Given the description of an element on the screen output the (x, y) to click on. 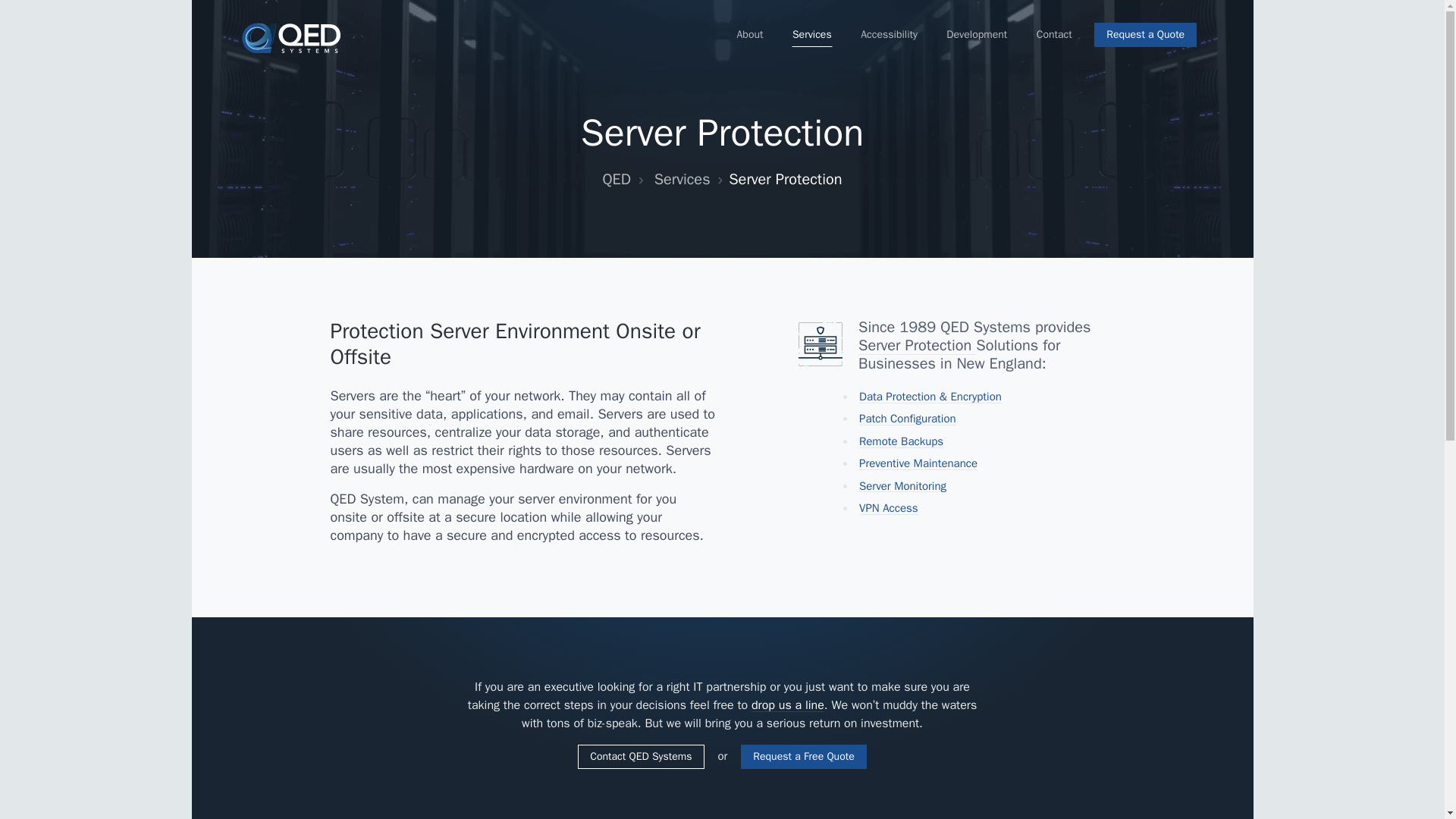
drop us a line (787, 704)
Request a Free Quote (803, 756)
Contact (1054, 34)
Services (681, 179)
Development (975, 34)
QED (616, 179)
Server Monitoring (902, 486)
Preventive Maintenance (917, 463)
Services (812, 34)
Remote Backups (901, 440)
Contact QED Systems (640, 756)
Server Protection (917, 344)
VPN Access (888, 508)
Patch Configuration (907, 418)
Accessibility (889, 34)
